Given the description of an element on the screen output the (x, y) to click on. 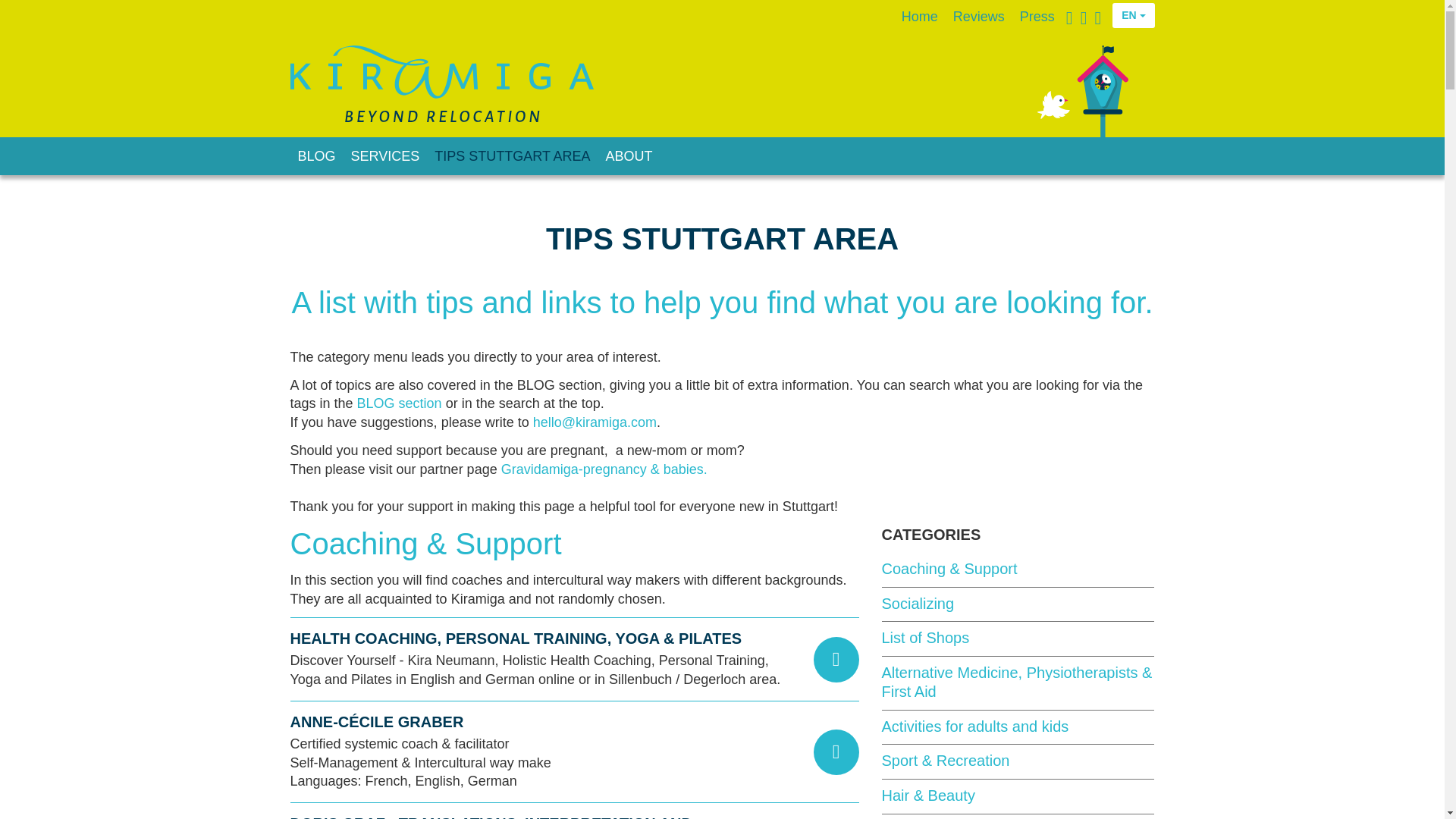
Reviews (977, 17)
Link to Blog (400, 403)
SERVICES (385, 156)
Press (1036, 17)
ansehen (835, 659)
ansehen (835, 751)
Activities for adults and kids (974, 726)
Tips Stuttgart Area (511, 156)
BLOG section  (400, 403)
Home (918, 17)
BLOG (315, 156)
Press (1036, 17)
List of Shops (924, 637)
Reviews (977, 17)
